Given the description of an element on the screen output the (x, y) to click on. 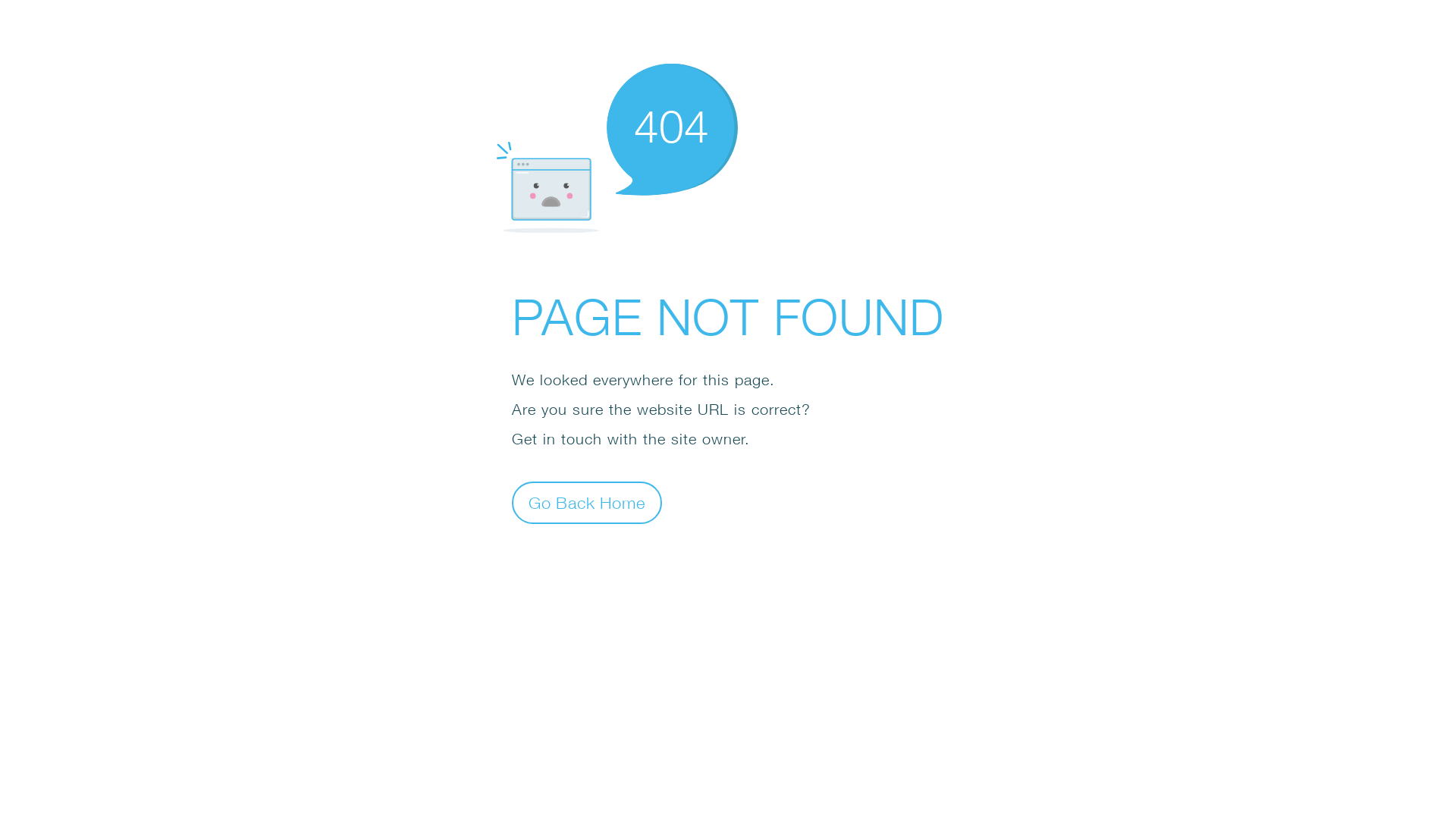
Go Back Home Element type: text (586, 502)
